Given the description of an element on the screen output the (x, y) to click on. 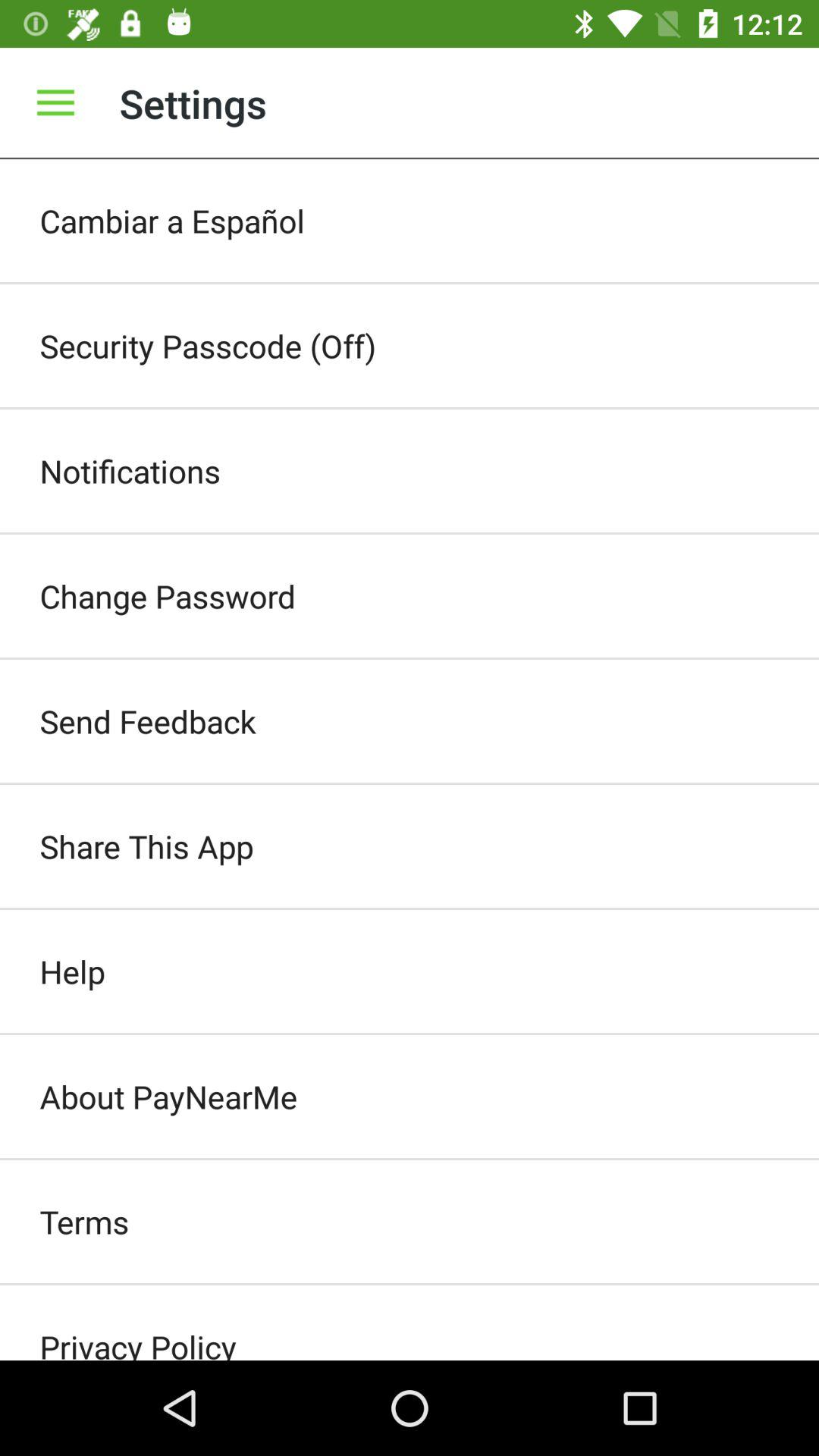
choose the notifications item (409, 470)
